Given the description of an element on the screen output the (x, y) to click on. 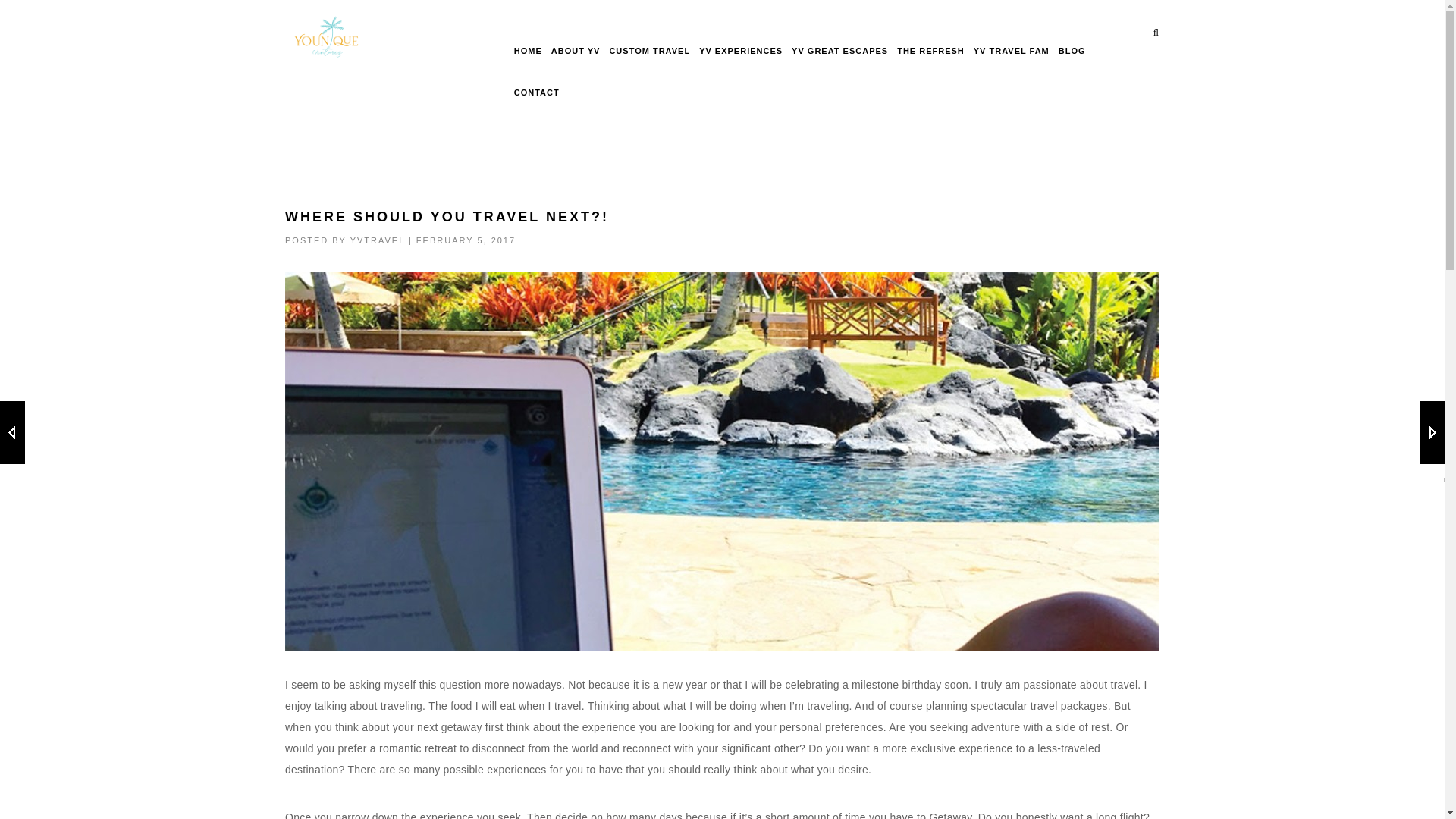
YV EXPERIENCES (740, 51)
THE REFRESH (929, 51)
YVTRAVEL (377, 239)
HOME (527, 51)
CONTACT (536, 93)
YV TRAVEL FAM (1011, 51)
YV GREAT ESCAPES (840, 51)
CUSTOM TRAVEL (649, 51)
ABOUT YV (575, 51)
BLOG (1072, 51)
